Given the description of an element on the screen output the (x, y) to click on. 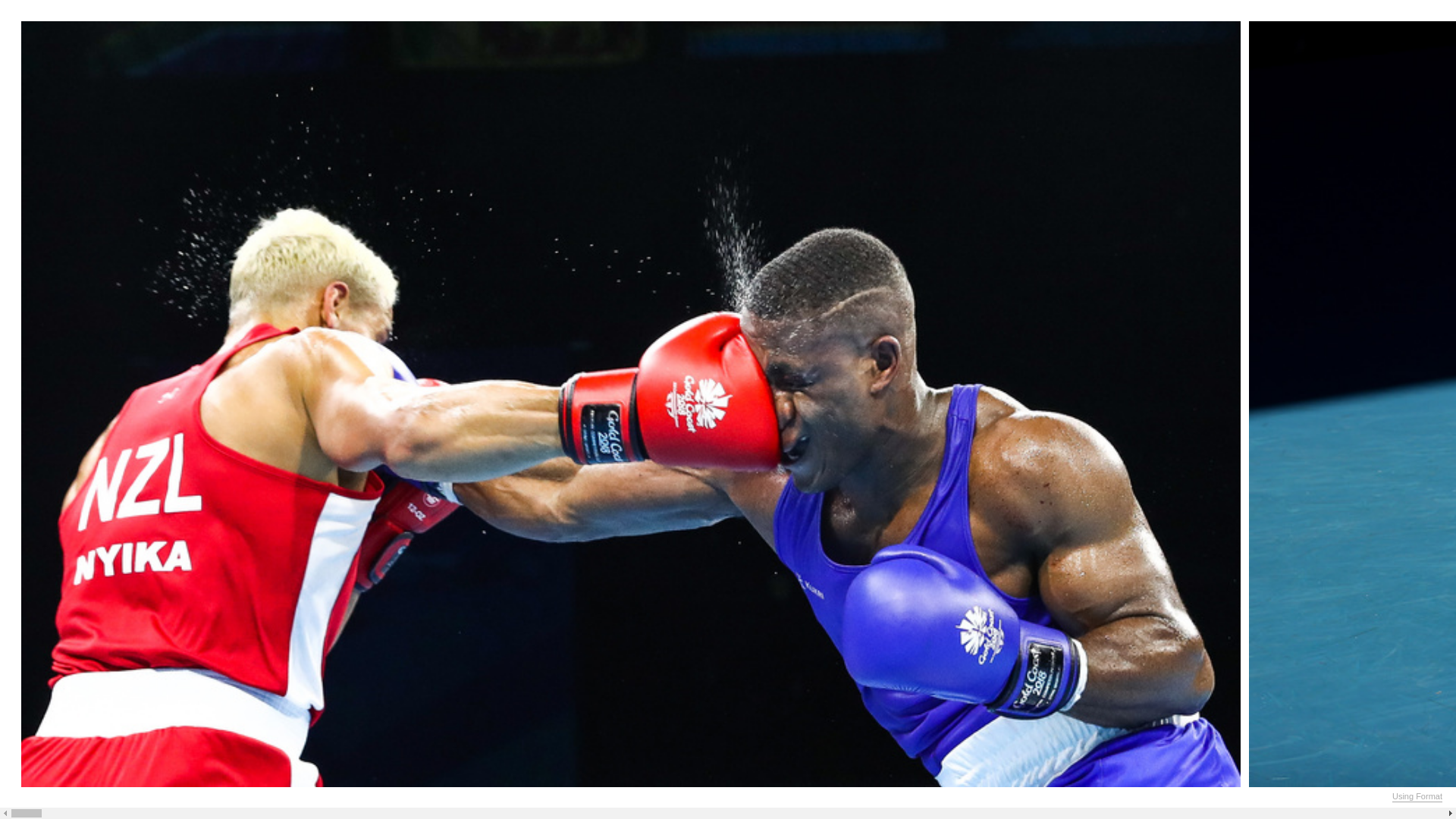
Using Format Element type: text (1417, 796)
